Given the description of an element on the screen output the (x, y) to click on. 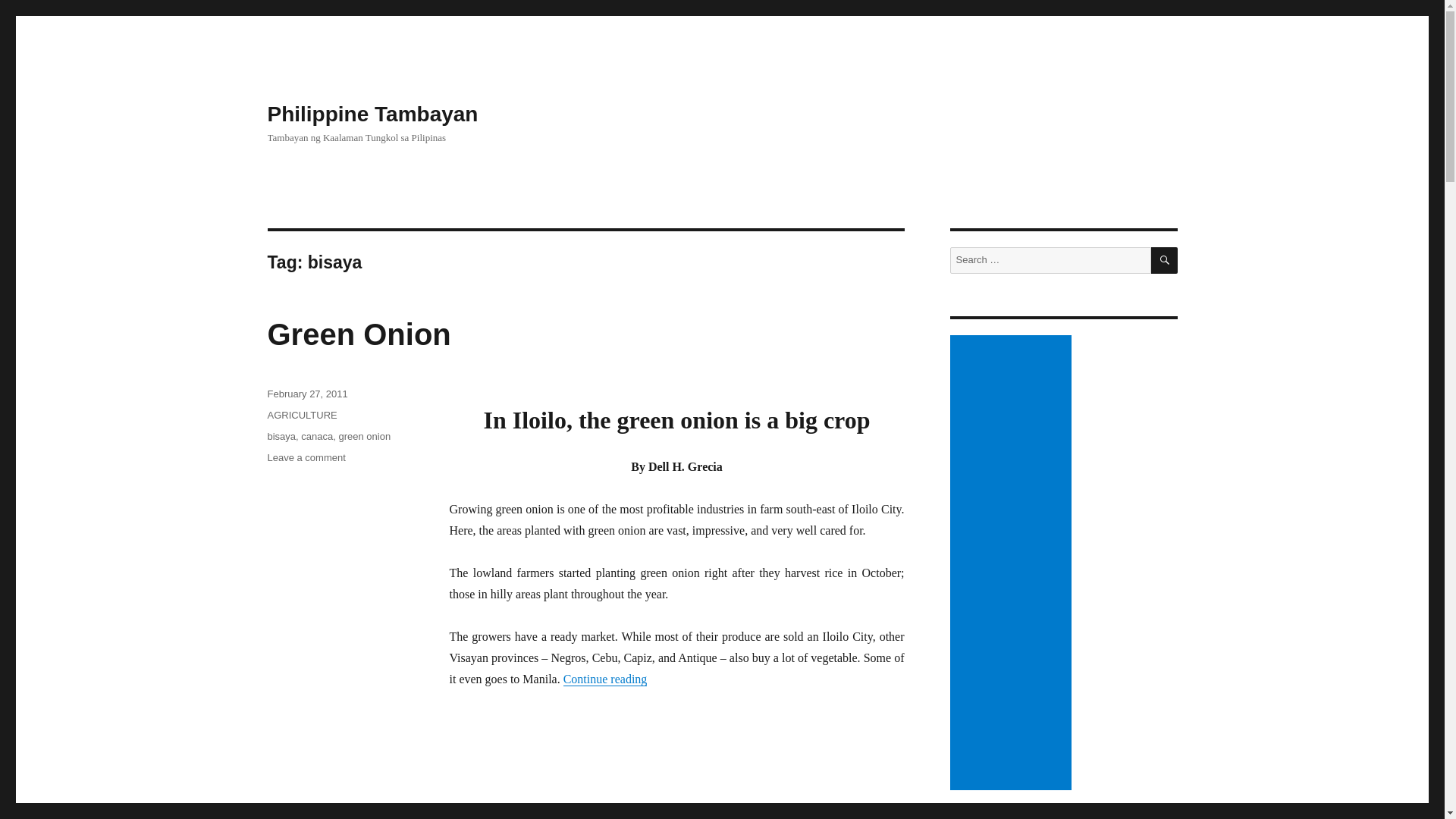
green onion (363, 436)
February 27, 2011 (306, 393)
bisaya (280, 436)
canaca (317, 436)
Philippine Tambayan (305, 457)
AGRICULTURE (371, 114)
Green Onion (301, 414)
SEARCH (357, 334)
